Given the description of an element on the screen output the (x, y) to click on. 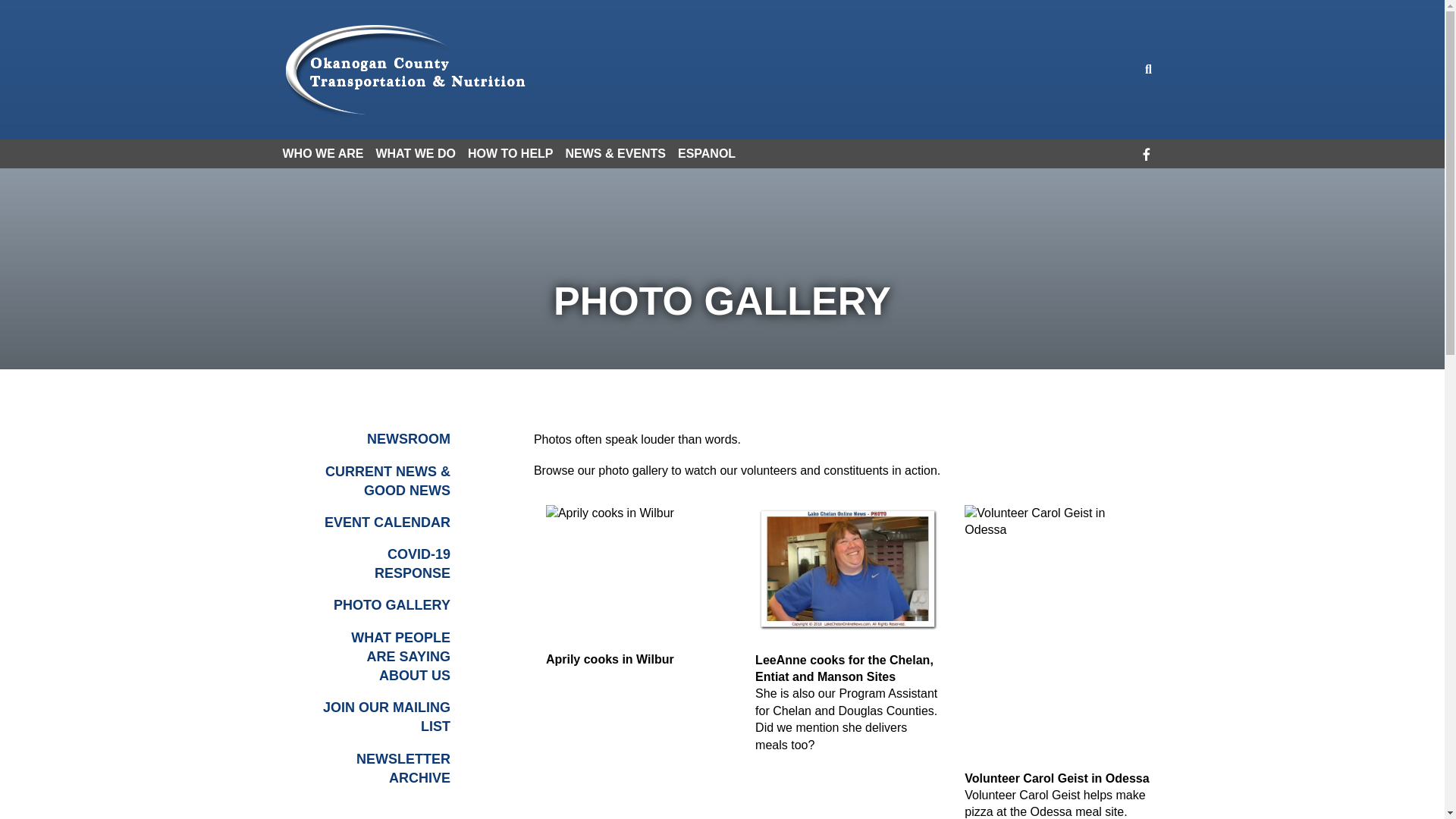
logo (405, 69)
